Given the description of an element on the screen output the (x, y) to click on. 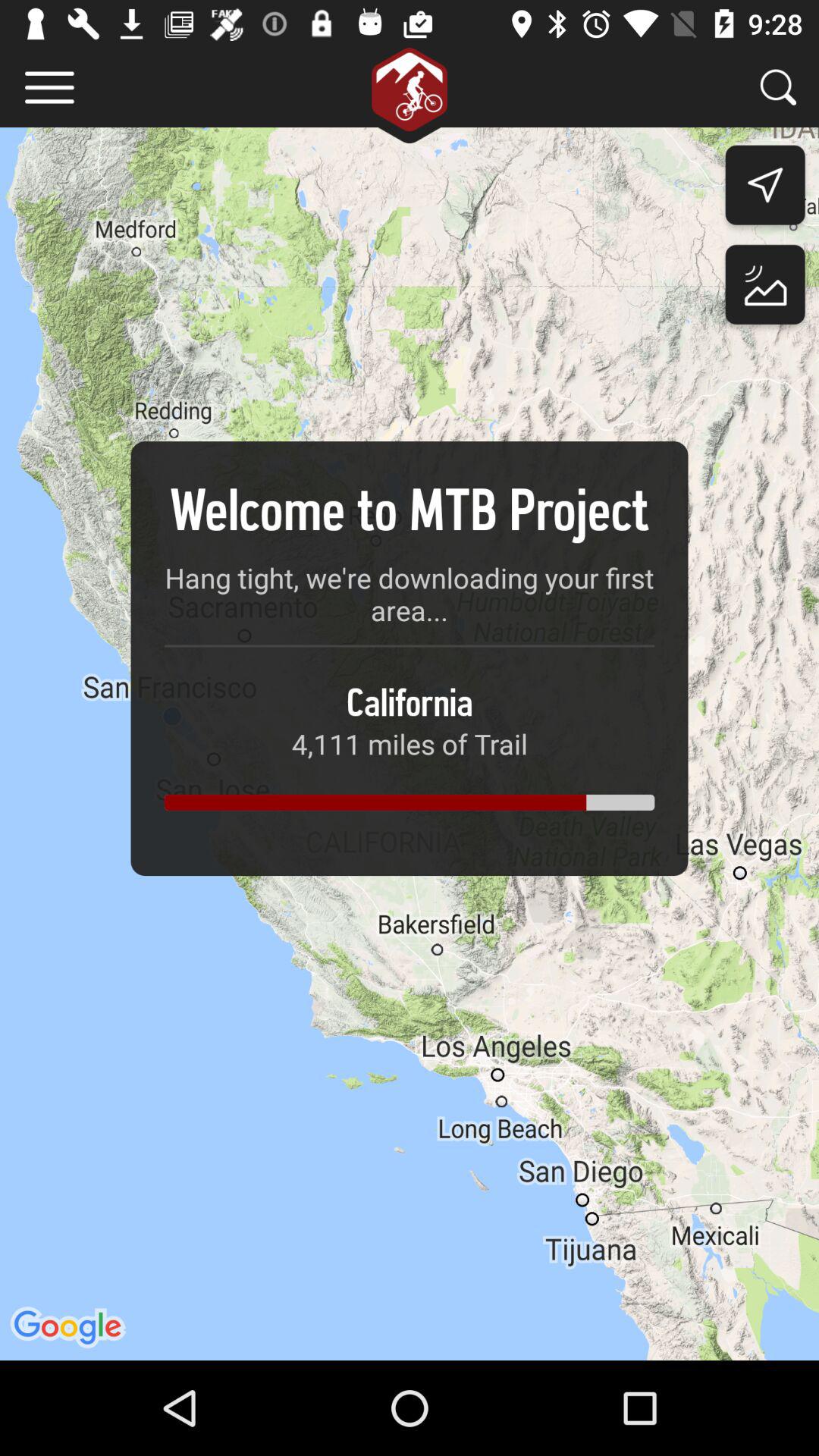
choose item at the top left corner (49, 87)
